Given the description of an element on the screen output the (x, y) to click on. 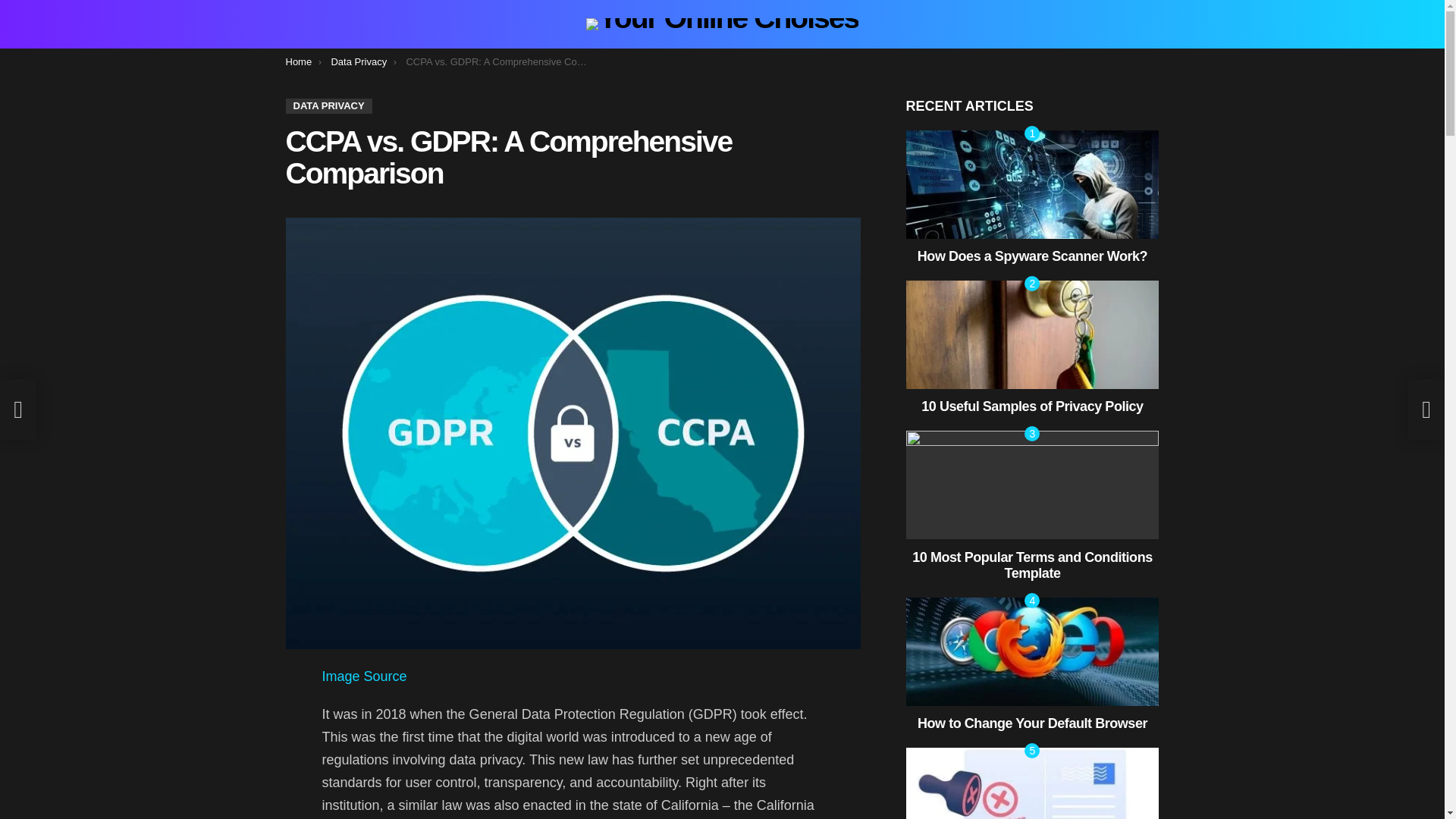
How to Send Anonymous Email Without Being Traced (1031, 783)
DATA PRIVACY (328, 105)
10 Most Popular Terms and Conditions Template (1031, 484)
10 Useful Samples of Privacy Policy (1031, 334)
How Does a Spyware Scanner Work? (1031, 184)
Data Privacy (358, 61)
Image Source (363, 676)
Home (298, 61)
How to Change Your Default Browser (1031, 651)
